Given the description of an element on the screen output the (x, y) to click on. 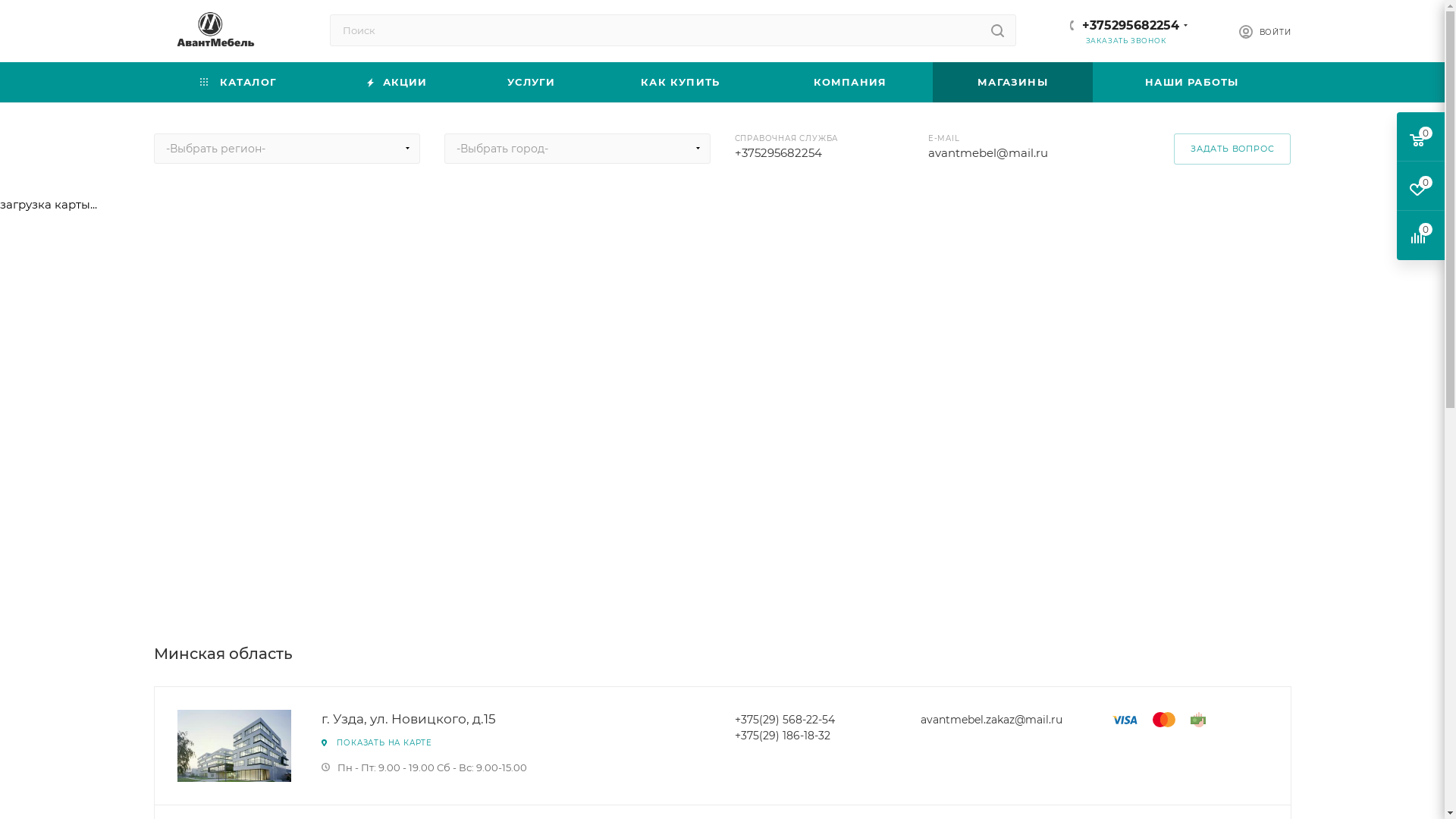
avantmebel.zakaz@mail.ru Element type: text (991, 719)
Visa Element type: hover (1124, 719)
+375295682254 Element type: text (1129, 25)
AVANTMEBEL.BY Element type: hover (210, 31)
MasterCard Element type: hover (1163, 719)
+375(29) 186-18-32 Element type: text (781, 735)
+375(29) 568-22-54 Element type: text (784, 719)
